Given the description of an element on the screen output the (x, y) to click on. 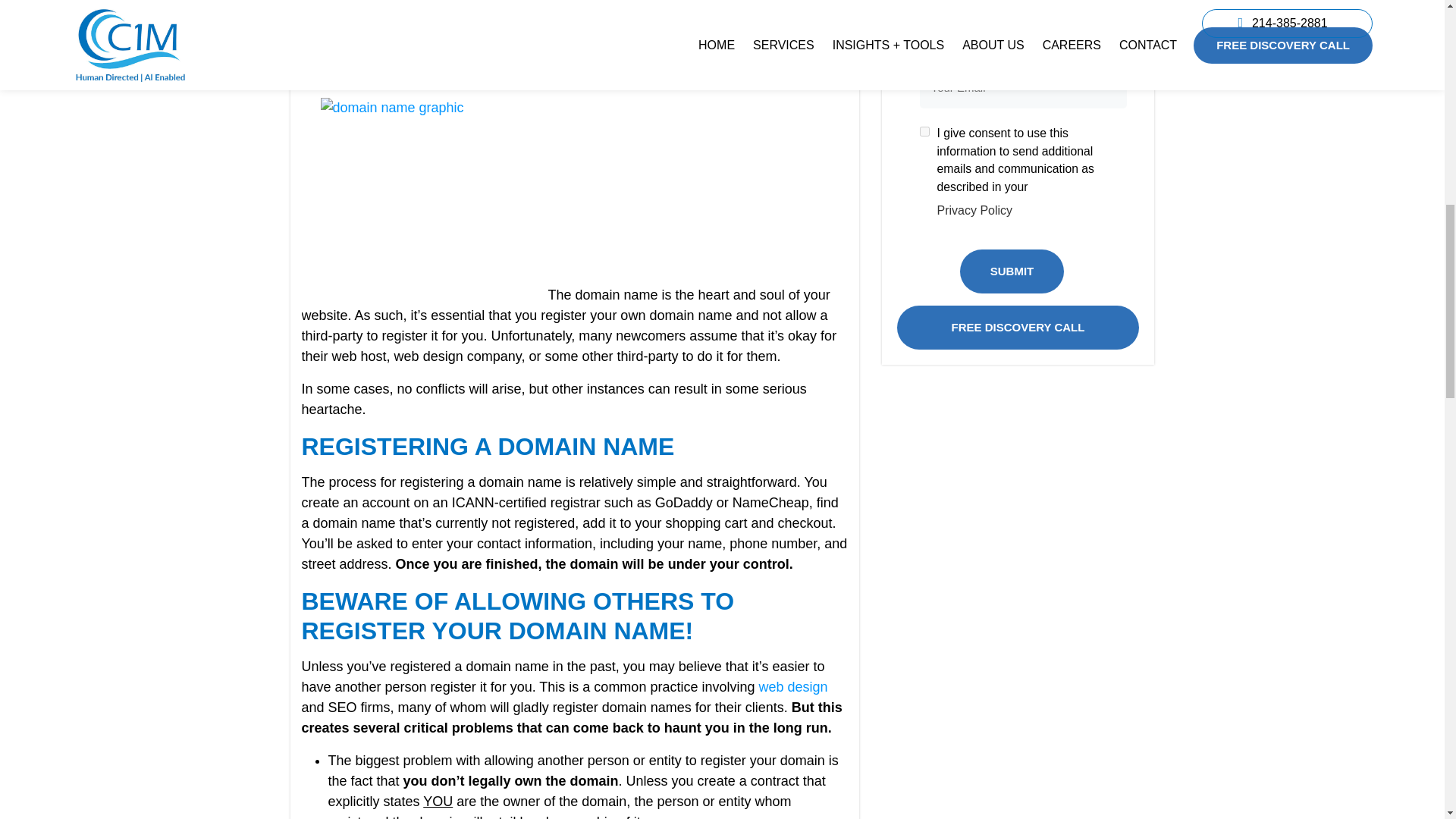
Submit (1011, 270)
